Given the description of an element on the screen output the (x, y) to click on. 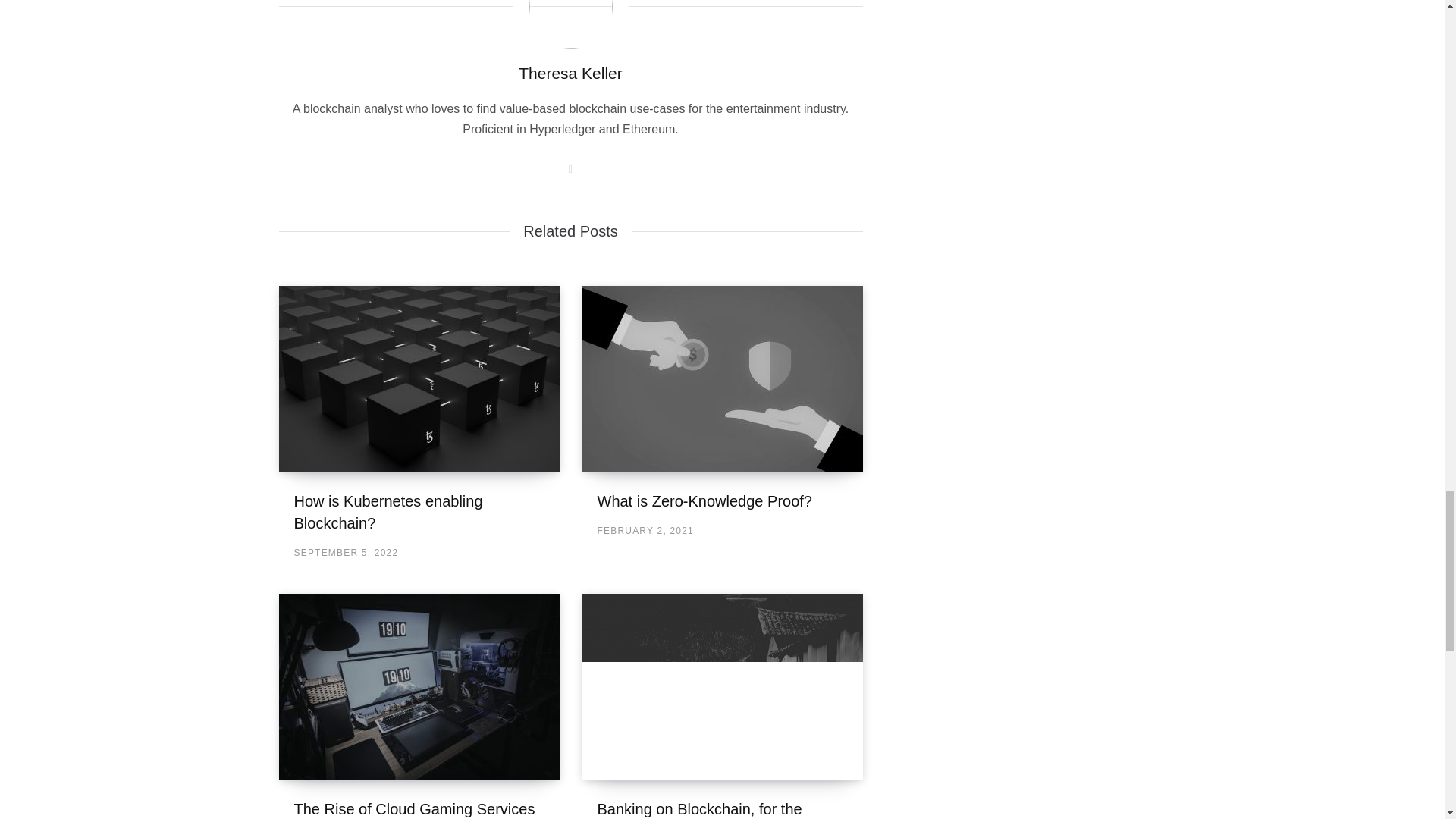
How is Kubernetes enabling Blockchain? (388, 512)
Banking on Blockchain, for the Unbanked (699, 809)
The Rise of Cloud Gaming Services (414, 808)
Theresa Keller (570, 73)
What is Zero-Knowledge Proof? (704, 501)
Posts by Theresa Keller (570, 73)
How is Kubernetes enabling Blockchain? (419, 378)
